Given the description of an element on the screen output the (x, y) to click on. 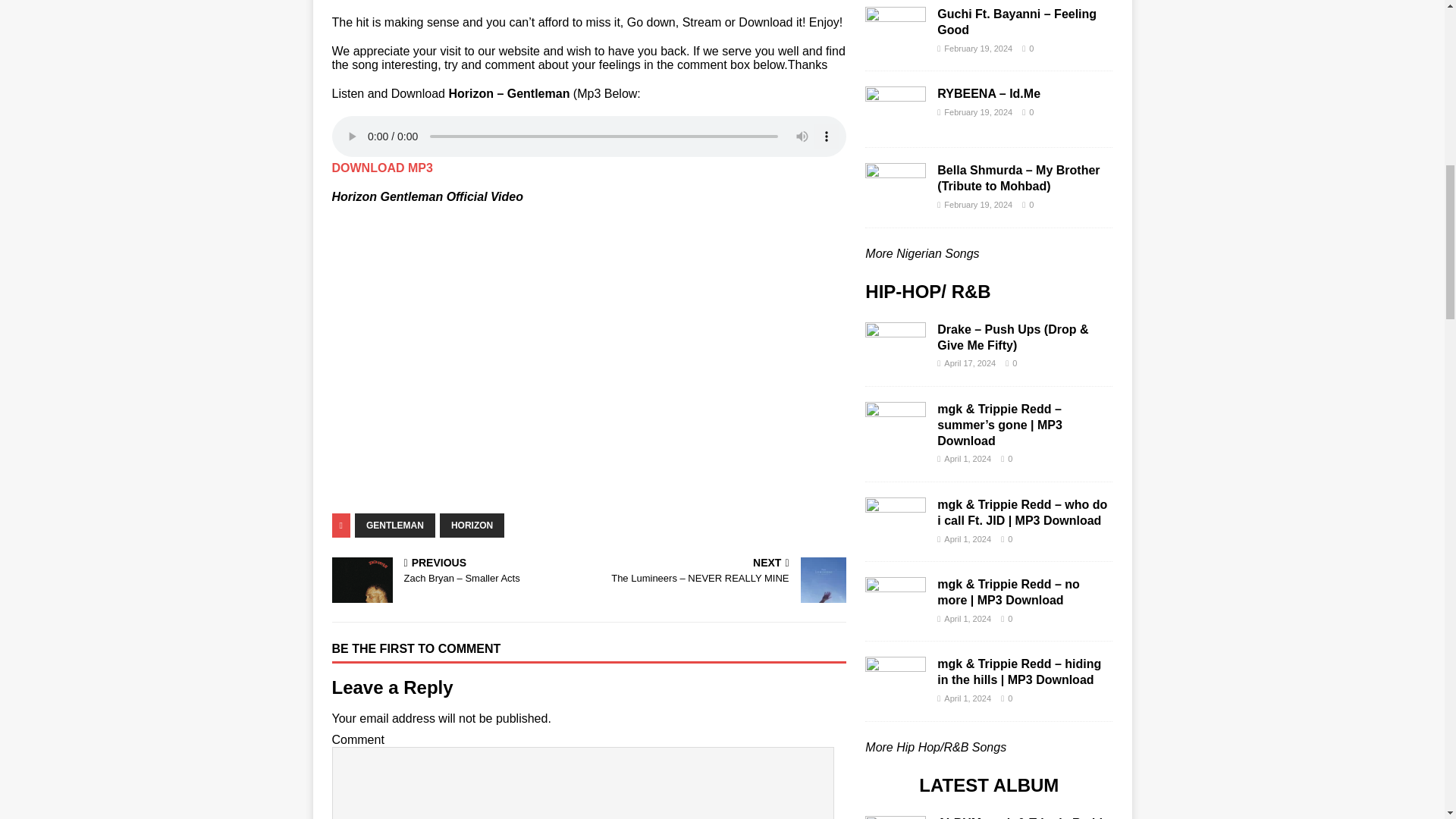
HORIZON (471, 525)
DOWNLOAD MP3 (381, 167)
GENTLEMAN (395, 525)
